Given the description of an element on the screen output the (x, y) to click on. 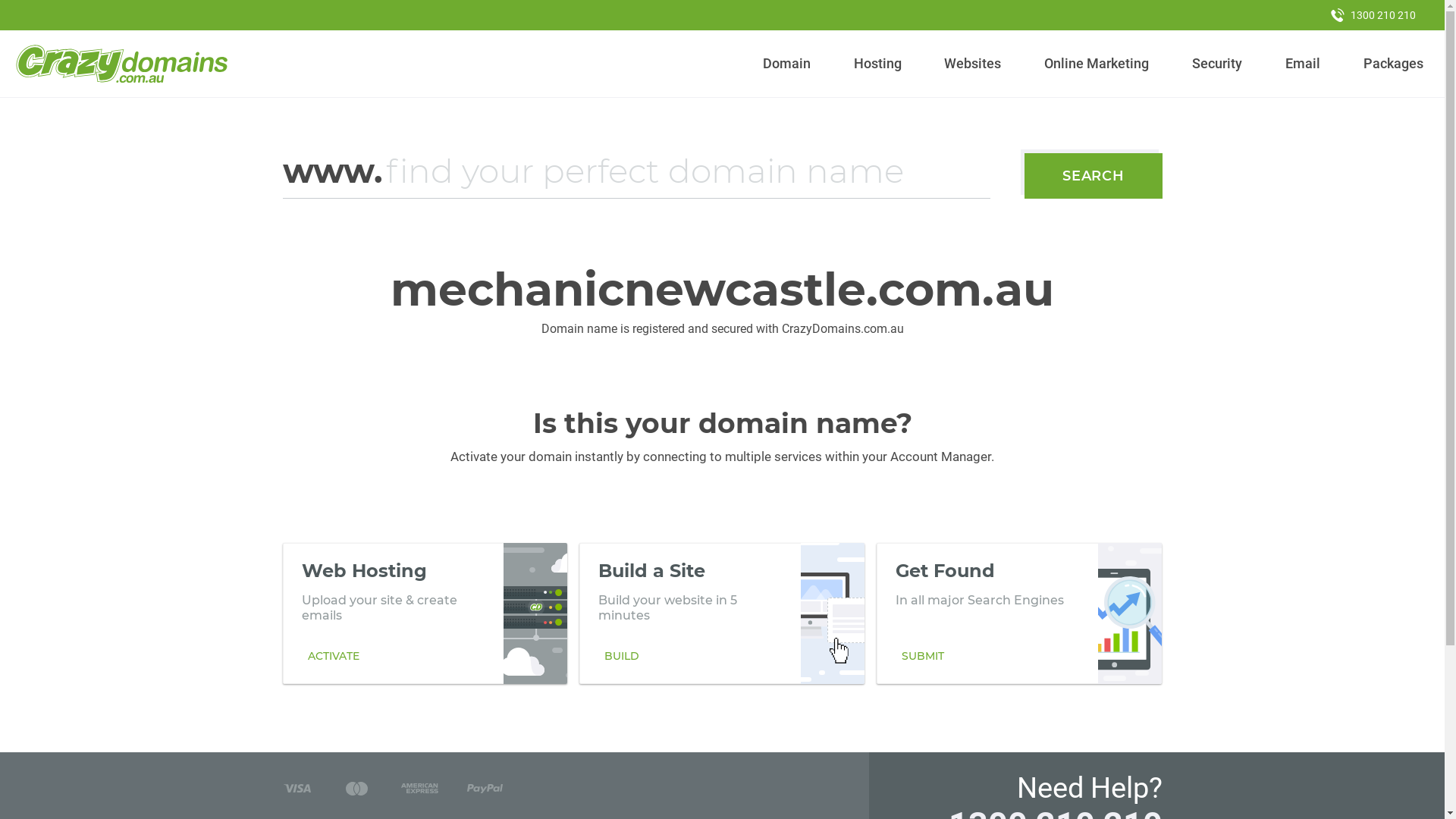
SEARCH Element type: text (1092, 175)
Domain Element type: text (786, 63)
Hosting Element type: text (877, 63)
Websites Element type: text (972, 63)
Packages Element type: text (1392, 63)
Email Element type: text (1302, 63)
Get Found
In all major Search Engines
SUBMIT Element type: text (1018, 613)
Security Element type: text (1217, 63)
Online Marketing Element type: text (1096, 63)
Build a Site
Build your website in 5 minutes
BUILD Element type: text (721, 613)
1300 210 210 Element type: text (1373, 15)
Web Hosting
Upload your site & create emails
ACTIVATE Element type: text (424, 613)
